Given the description of an element on the screen output the (x, y) to click on. 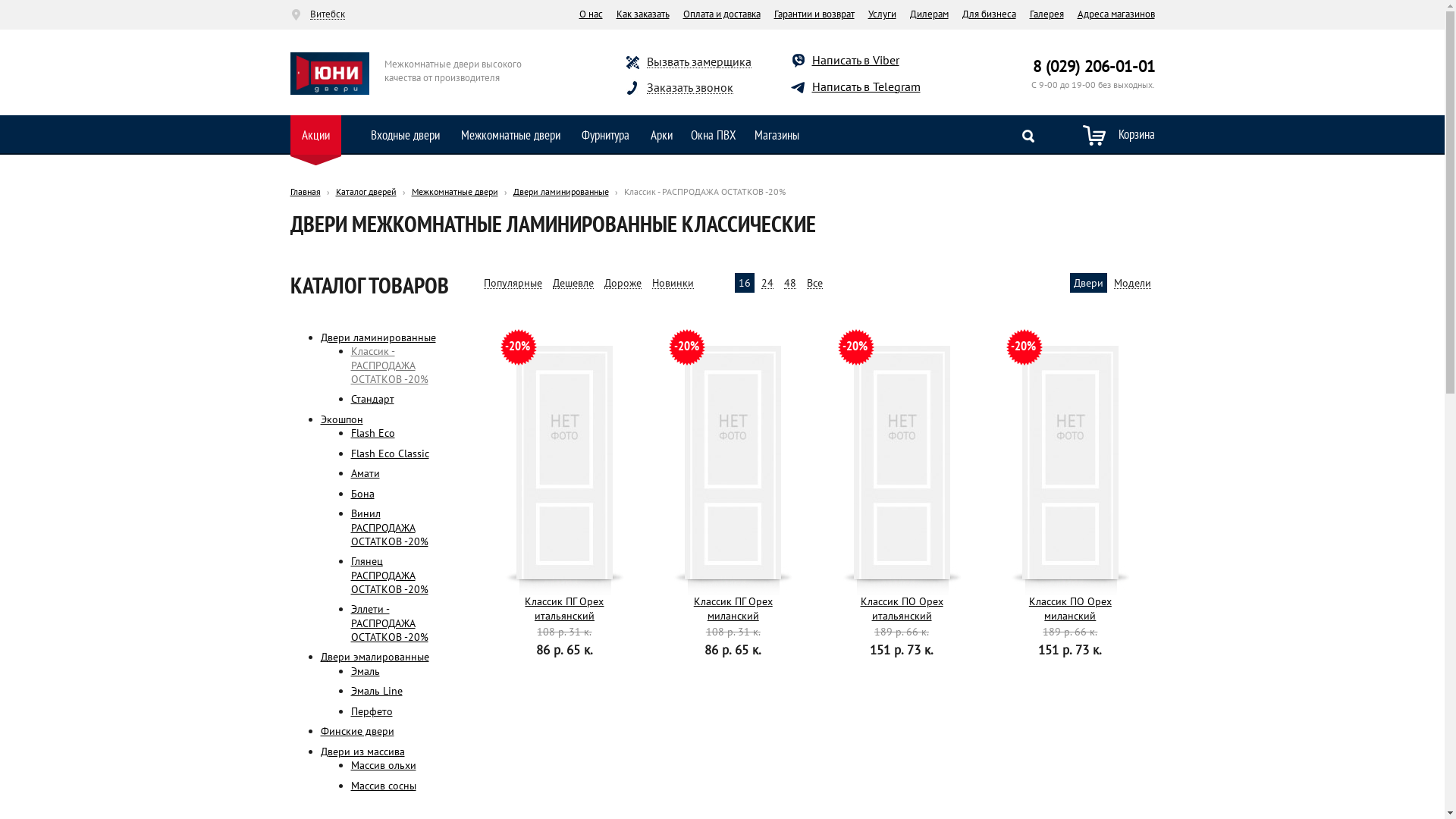
48 Element type: text (790, 282)
16 Element type: text (744, 282)
8 (029) 206-01-01 Element type: text (1093, 66)
Flash Eco Element type: text (372, 432)
-20% Element type: text (901, 462)
Flash Eco Classic Element type: text (389, 453)
-20% Element type: text (733, 462)
-20% Element type: text (1070, 462)
-20% Element type: text (564, 462)
24 Element type: text (767, 282)
